Given the description of an element on the screen output the (x, y) to click on. 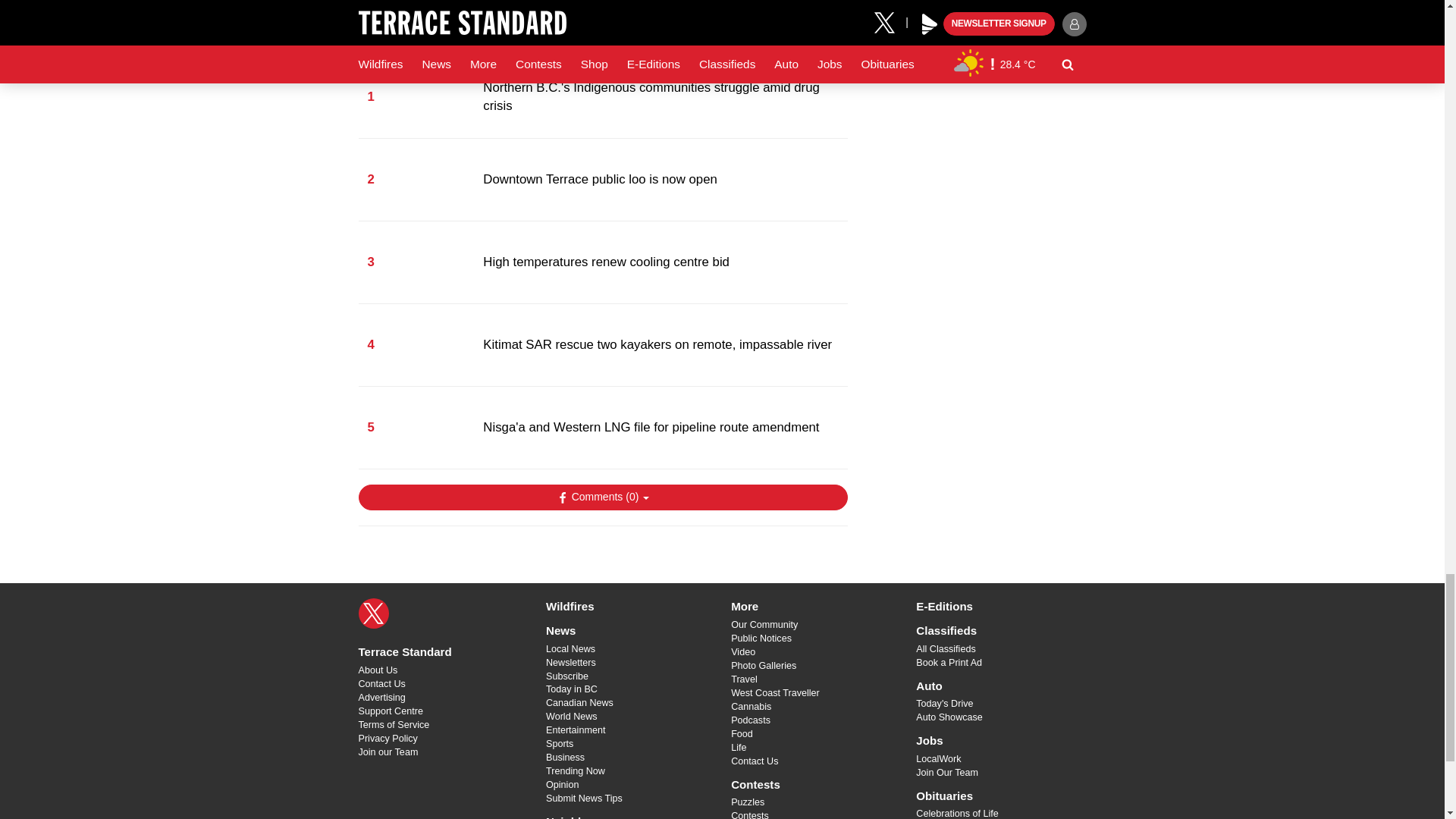
Show Comments (602, 497)
X (373, 613)
